Given the description of an element on the screen output the (x, y) to click on. 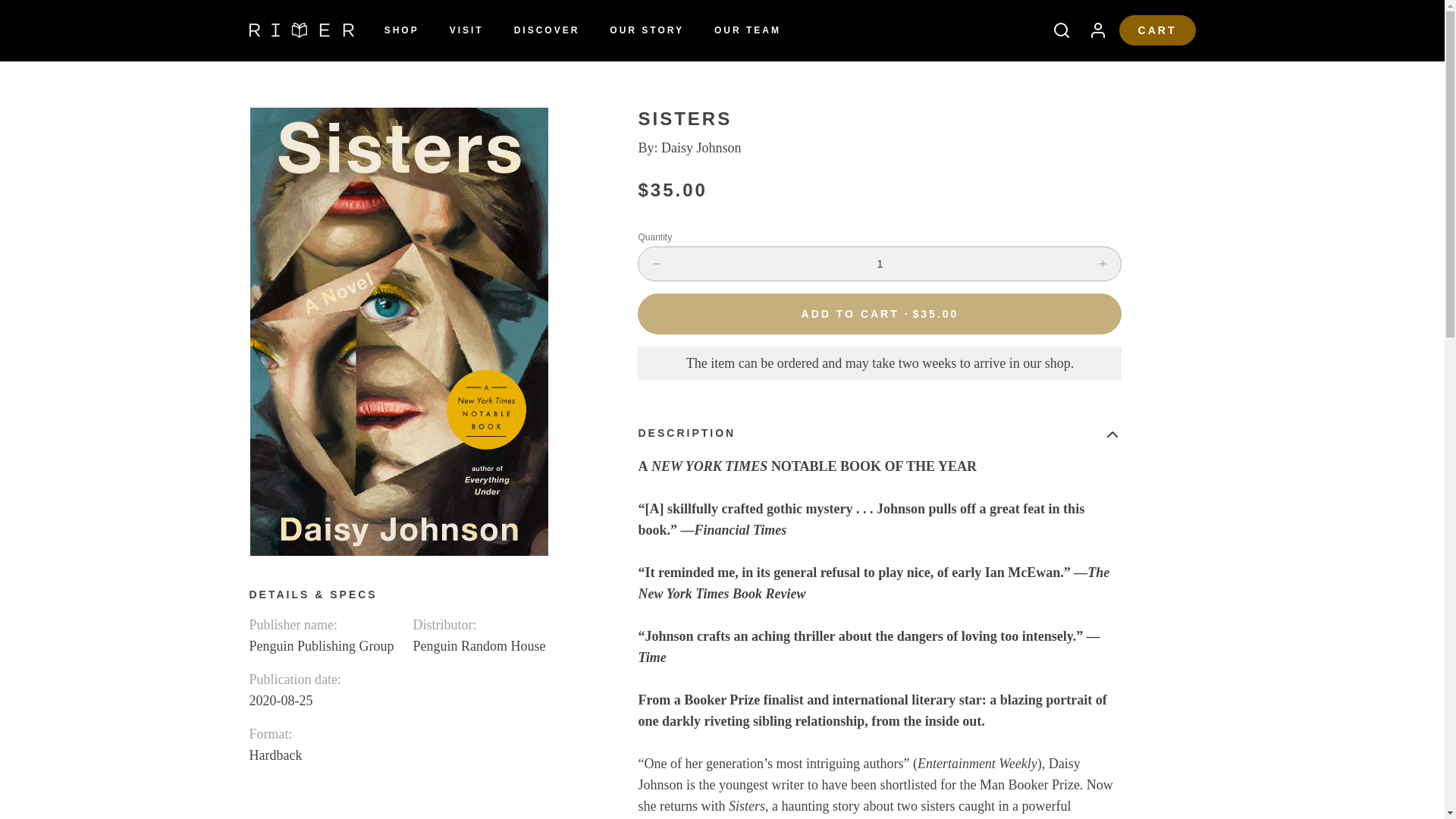
OUR TEAM (747, 30)
SHOP (401, 30)
Search (1055, 30)
Increase quantity (1102, 263)
Decrease quantity (657, 263)
CART (1157, 30)
 Log in (1091, 30)
OUR STORY (645, 30)
River Bookshop (300, 29)
VISIT (467, 30)
DISCOVER (547, 30)
1 (879, 263)
